Given the description of an element on the screen output the (x, y) to click on. 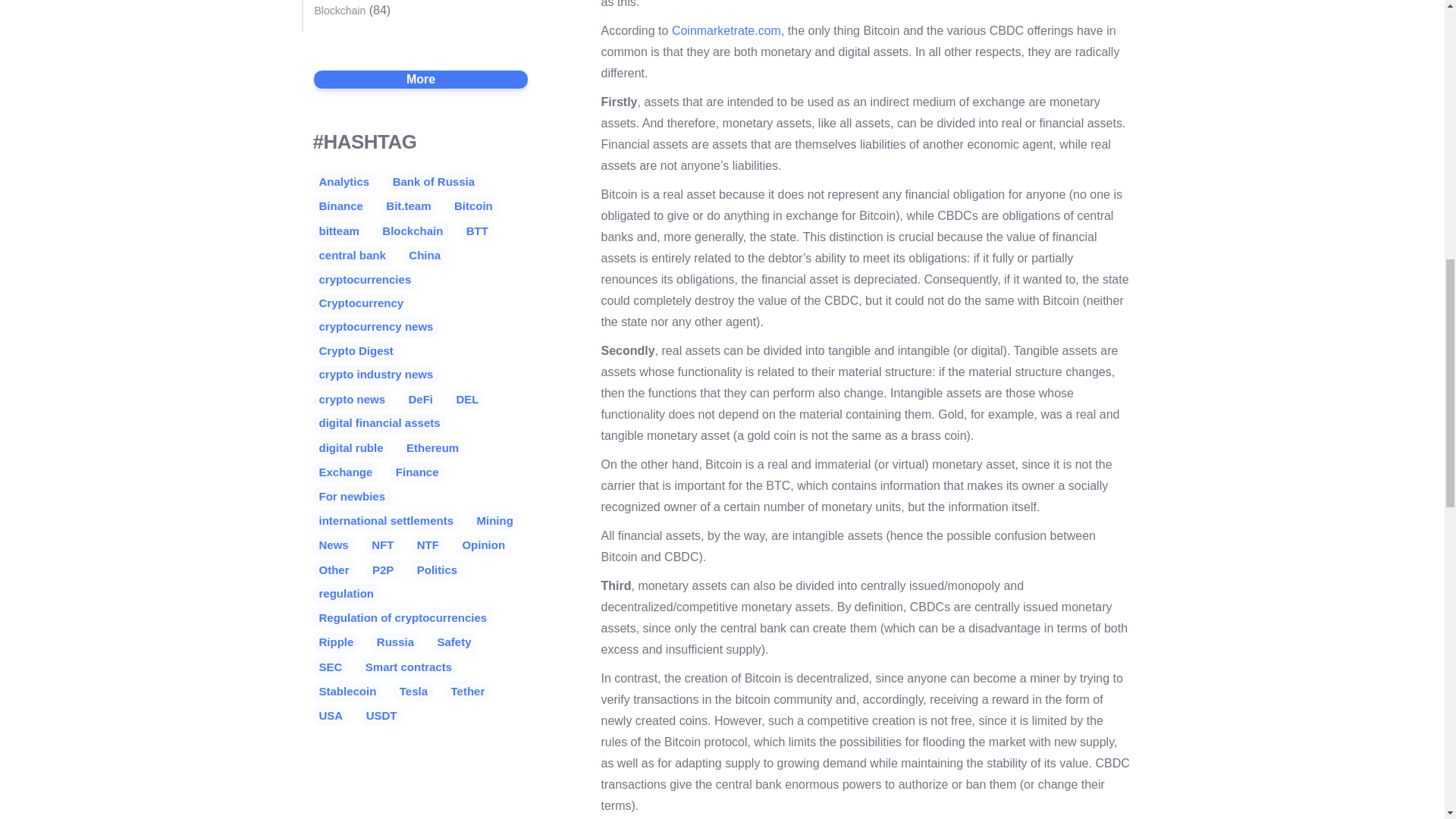
Coinmarketrate.com (725, 30)
Blockchain (339, 10)
